Given the description of an element on the screen output the (x, y) to click on. 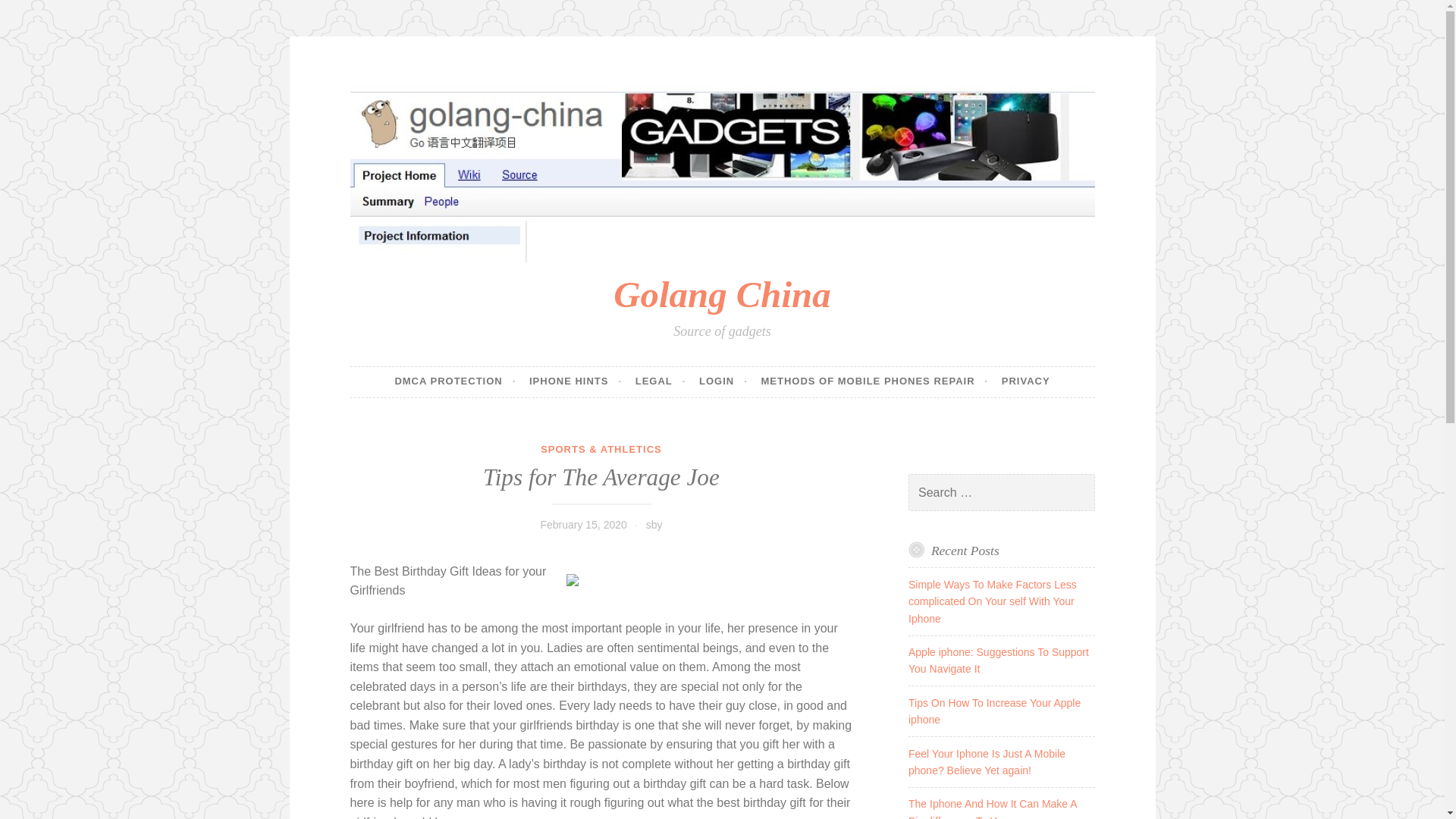
IPHONE HINTS (575, 381)
February 15, 2020 (583, 524)
sby (654, 524)
Feel Your Iphone Is Just A Mobile phone? Believe Yet again! (986, 761)
PRIVACY (1025, 381)
Search (33, 13)
Golang China (720, 294)
Apple iphone: Suggestions To Support You Navigate It (998, 660)
LOGIN (723, 381)
